Given the description of an element on the screen output the (x, y) to click on. 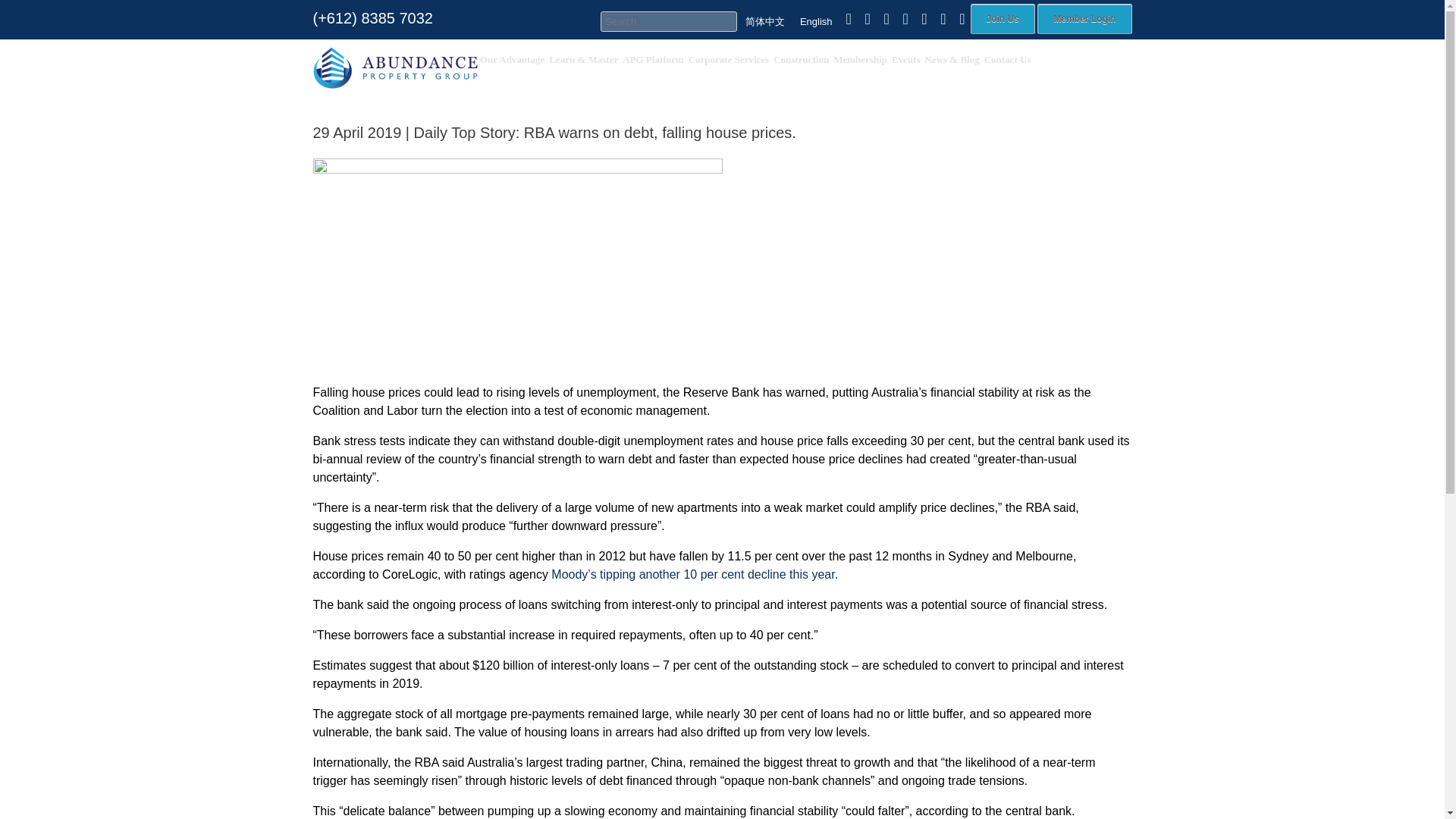
Our Advantage (512, 59)
Join Us (1003, 19)
Construction (801, 59)
Abundance Property Group (395, 67)
Membership (860, 59)
English (816, 21)
Corporate Services (728, 59)
APG Platform (652, 59)
Member Login (1083, 19)
